Given the description of an element on the screen output the (x, y) to click on. 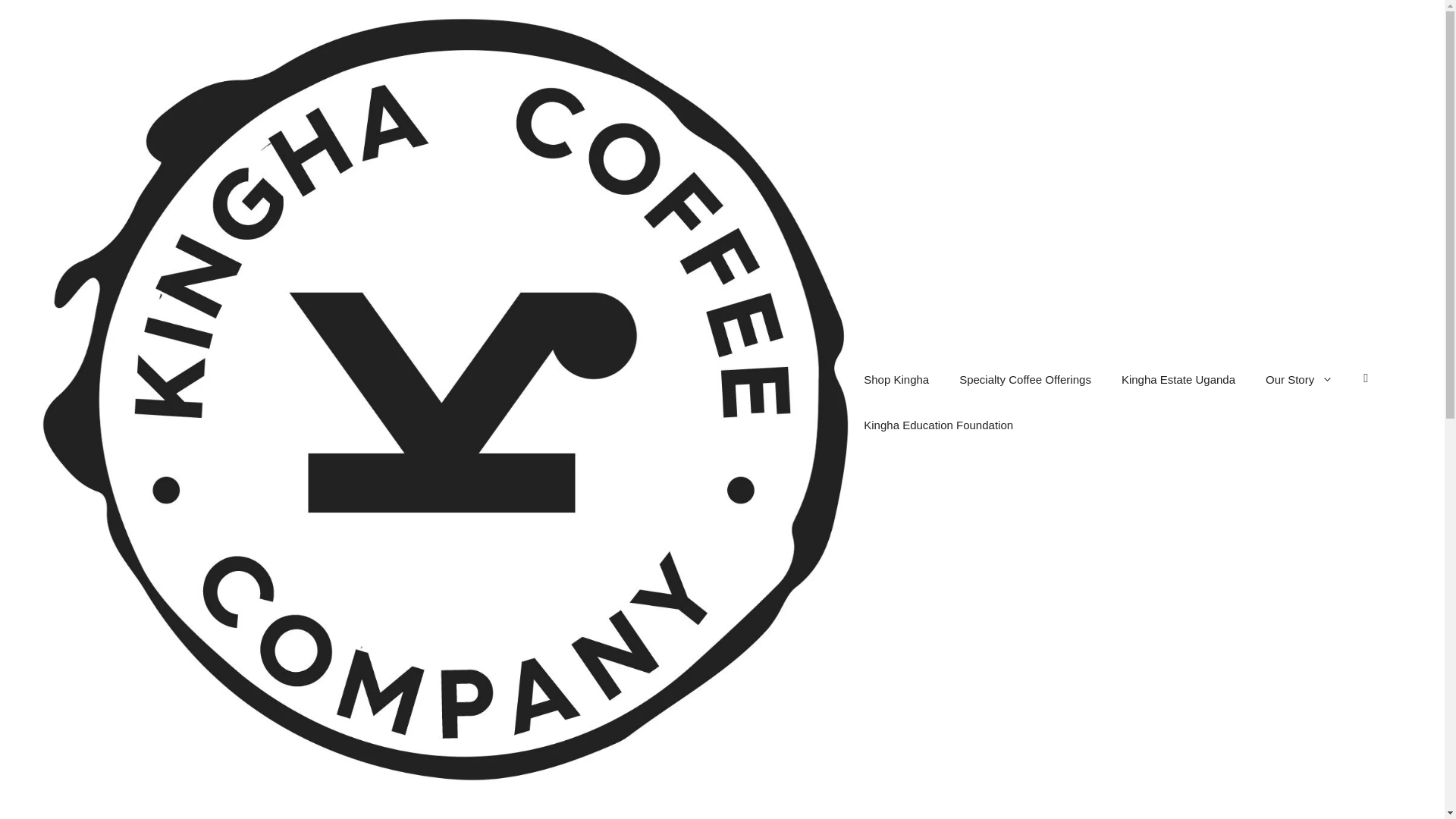
Our Story (1299, 379)
Specialty Coffee Offerings (1024, 379)
Kingha Estate Uganda (1178, 379)
Shop Kingha (895, 379)
Kingha Education Foundation (937, 424)
